Given the description of an element on the screen output the (x, y) to click on. 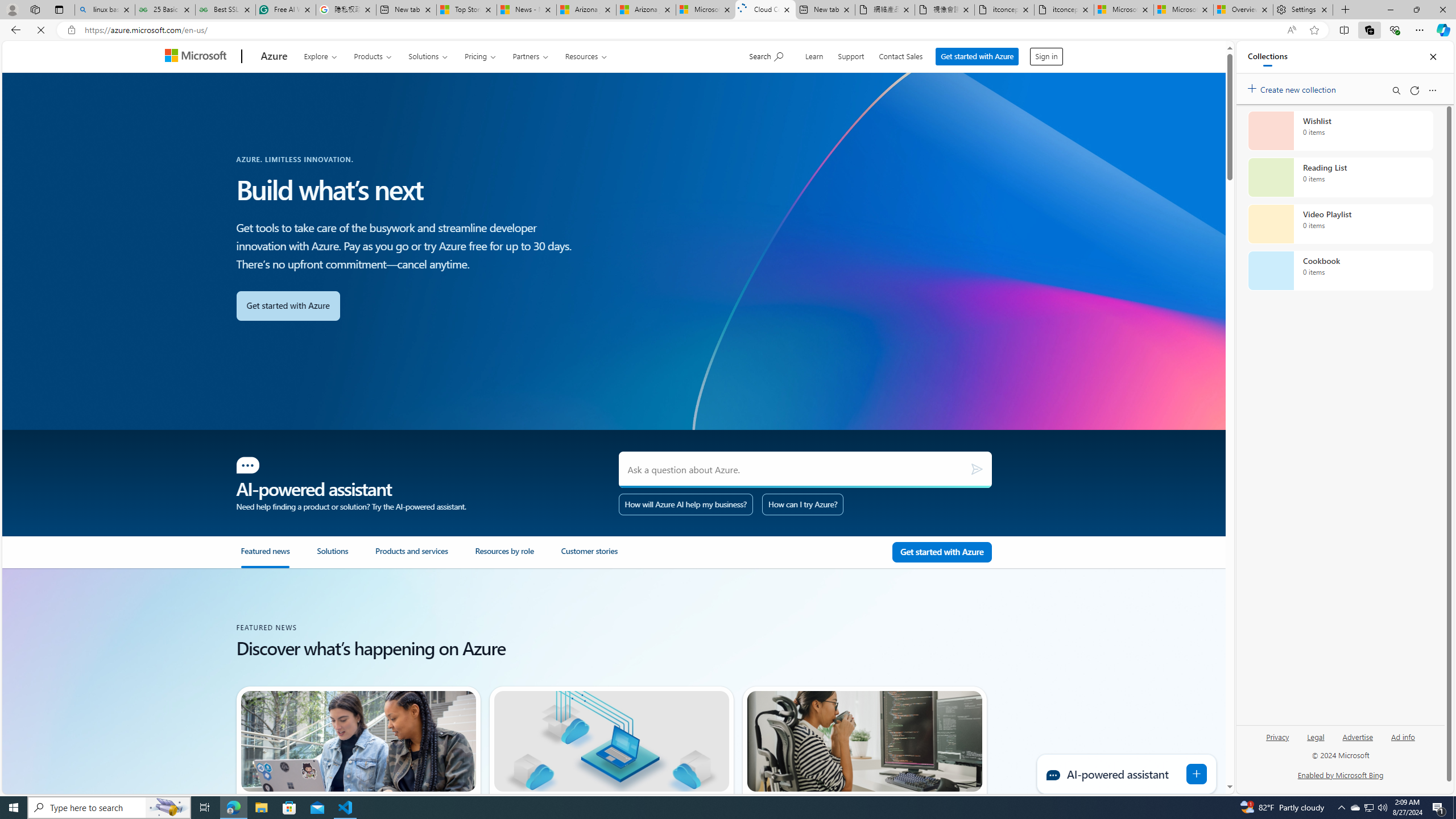
How will Azure AI help my business? (686, 504)
Contact Sales (902, 54)
Free AI Writing Assistance for Students | Grammarly (285, 9)
Overview (1243, 9)
Get started with Azure (978, 53)
Solutions (332, 555)
Resources by role (518, 556)
Solutions (346, 556)
Cookbook collection, 0 items (1339, 270)
